Given the description of an element on the screen output the (x, y) to click on. 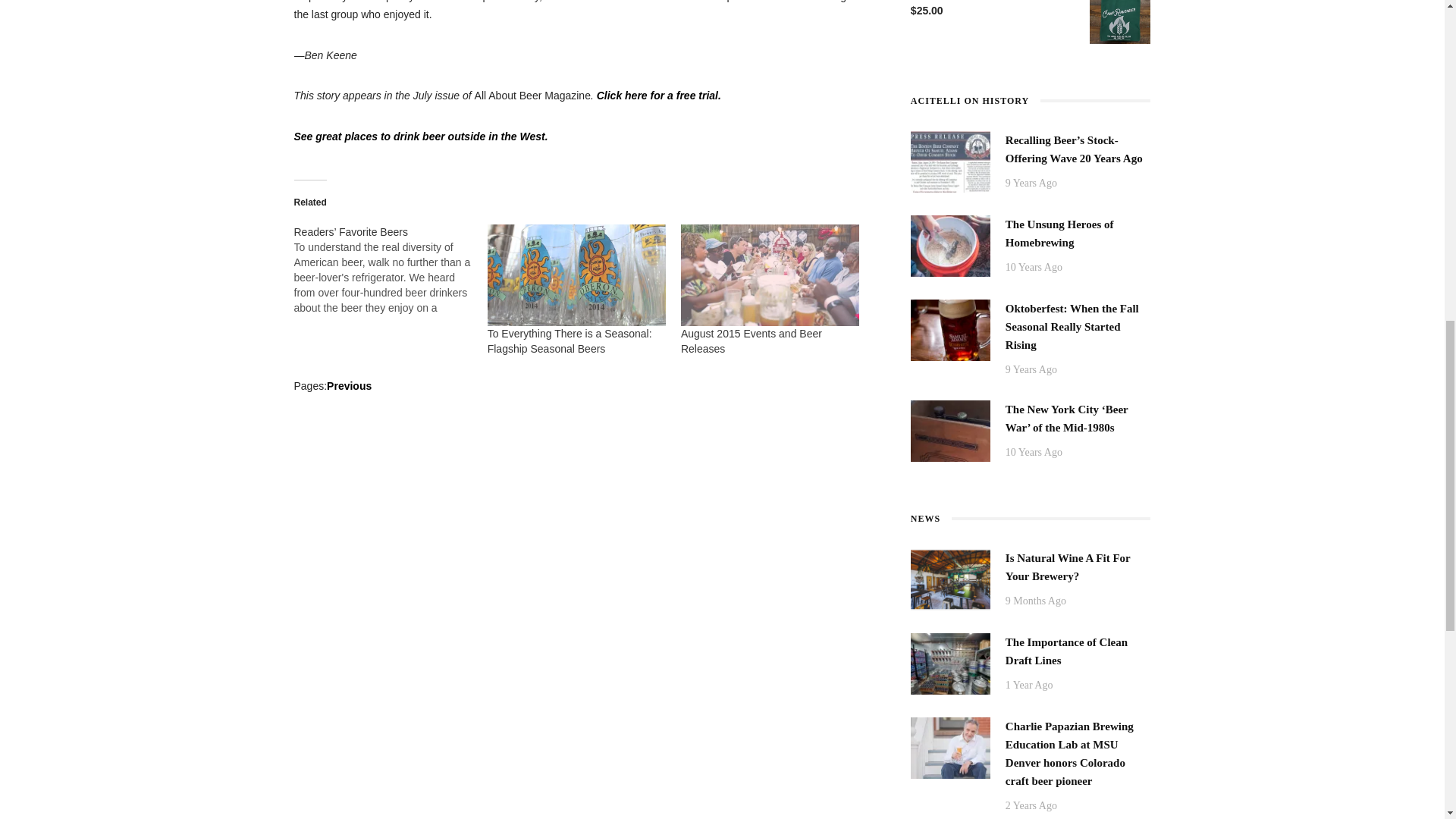
Oktoberfest: When the Fall Seasonal Really Started Rising (950, 328)
The Unsung Heroes of Homebrewing (950, 244)
August 2015 Events and Beer Releases (770, 274)
To Everything There is a Seasonal: Flagship Seasonal Beers (569, 340)
To Everything There is a Seasonal: Flagship Seasonal Beers (576, 274)
August 2015 Events and Beer Releases (751, 340)
The Unsung Heroes of Homebrewing (1059, 233)
